Given the description of an element on the screen output the (x, y) to click on. 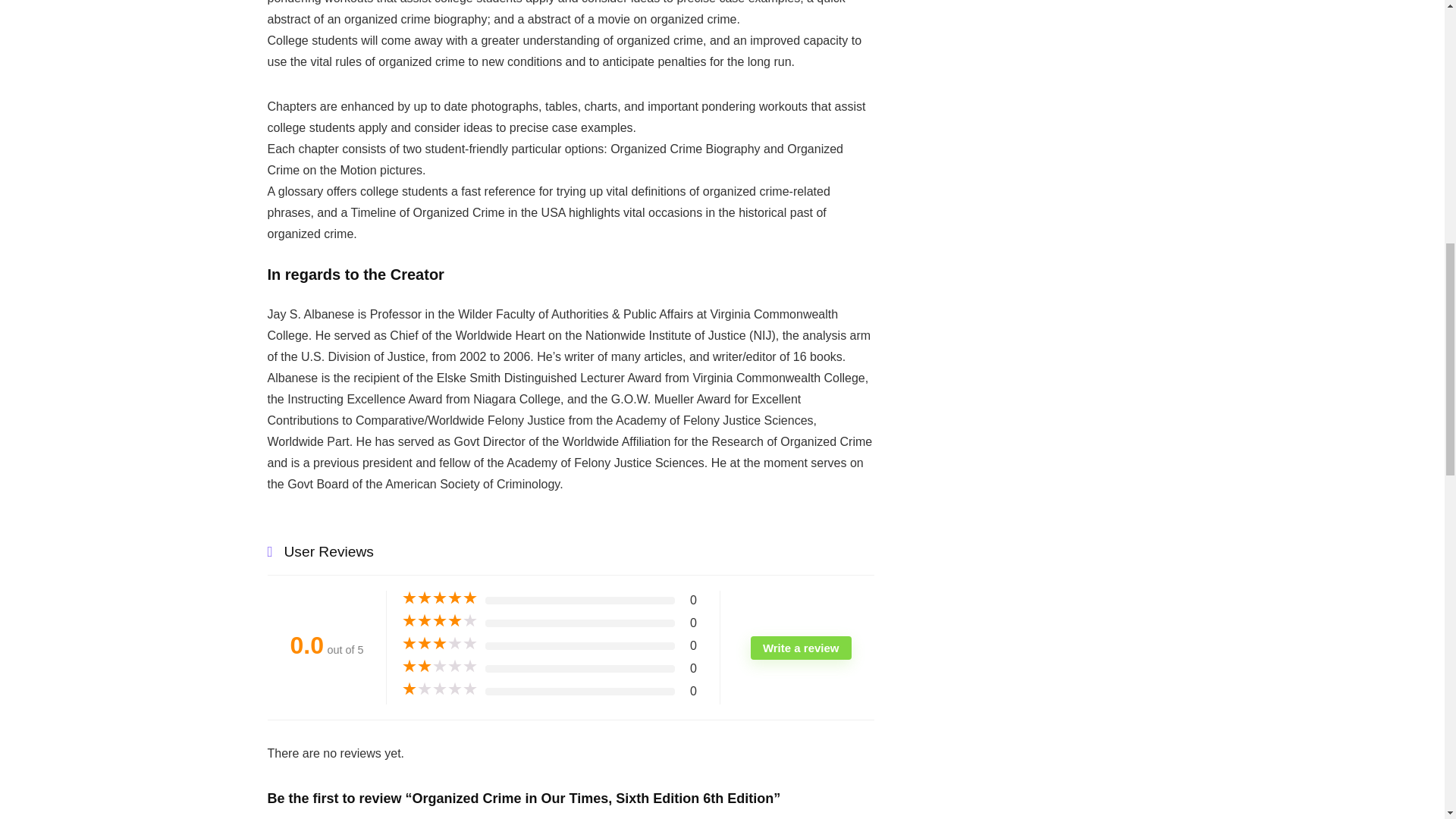
Rated 4 out of 5 (439, 620)
Rated 5 out of 5 (439, 598)
Write a review (801, 647)
Rated 1 out of 5 (439, 688)
Rated 2 out of 5 (439, 666)
Rated 3 out of 5 (439, 643)
